Given the description of an element on the screen output the (x, y) to click on. 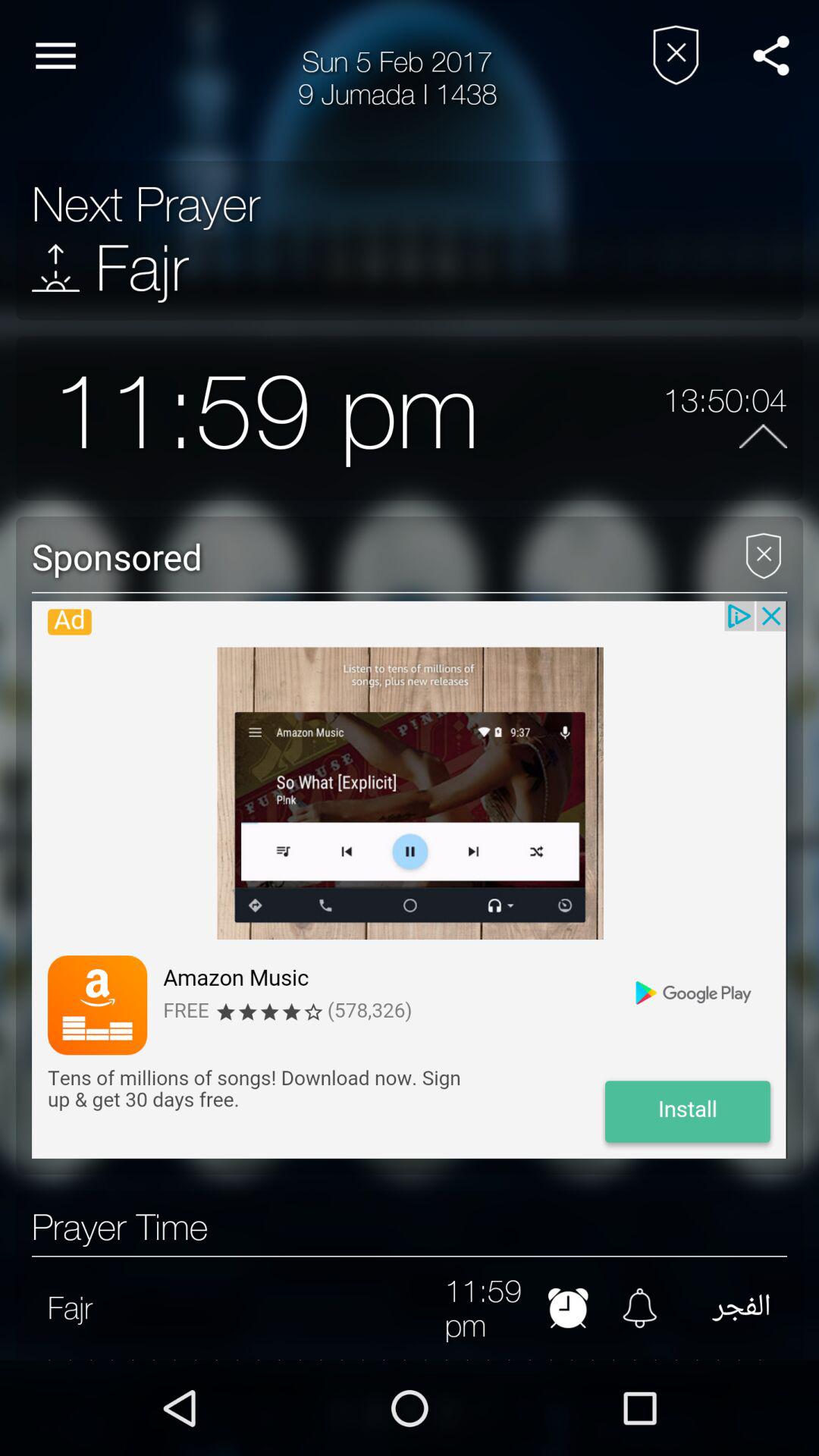
alarm set (568, 1308)
